Given the description of an element on the screen output the (x, y) to click on. 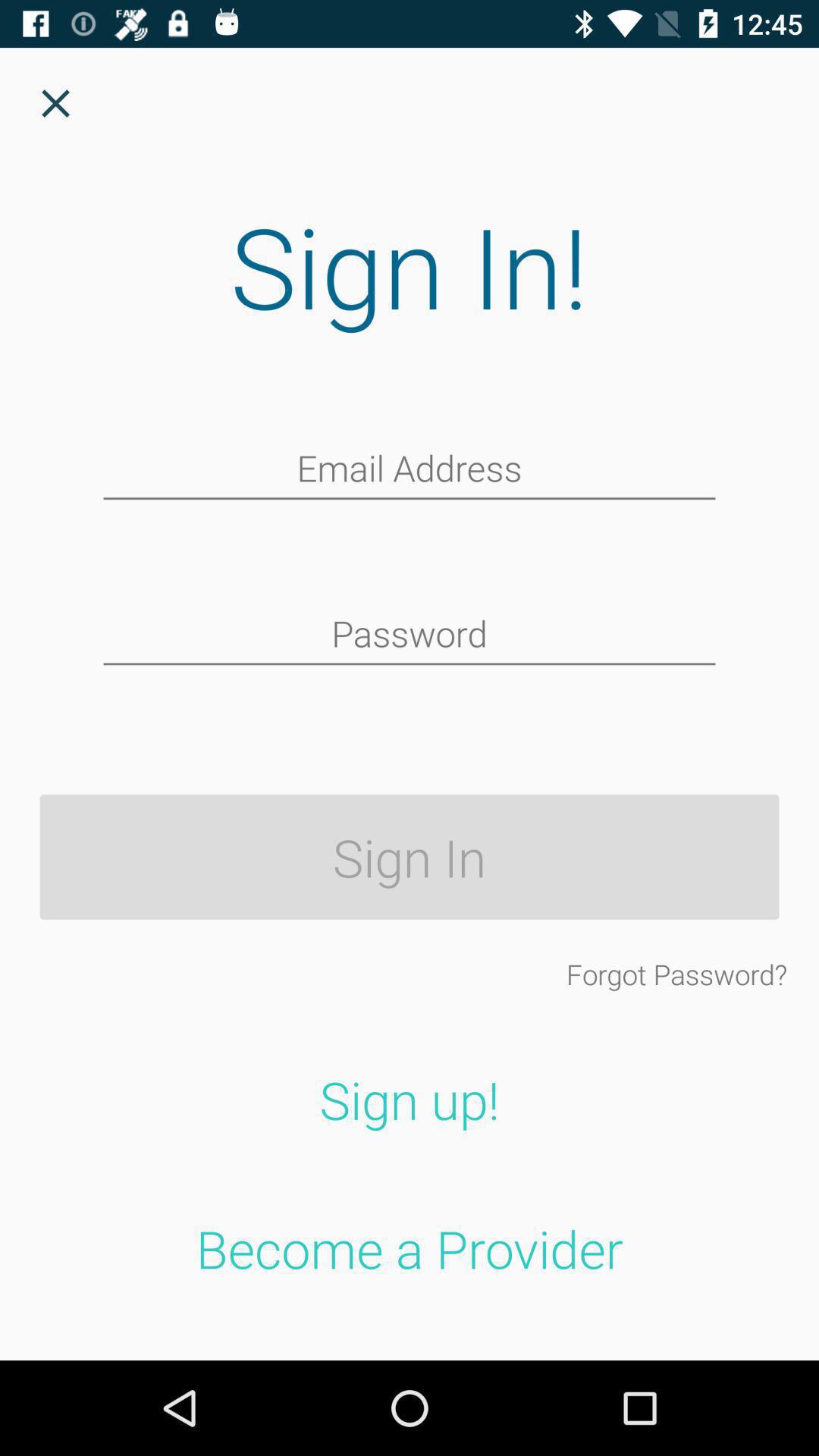
launch the icon at the bottom right corner (676, 974)
